Given the description of an element on the screen output the (x, y) to click on. 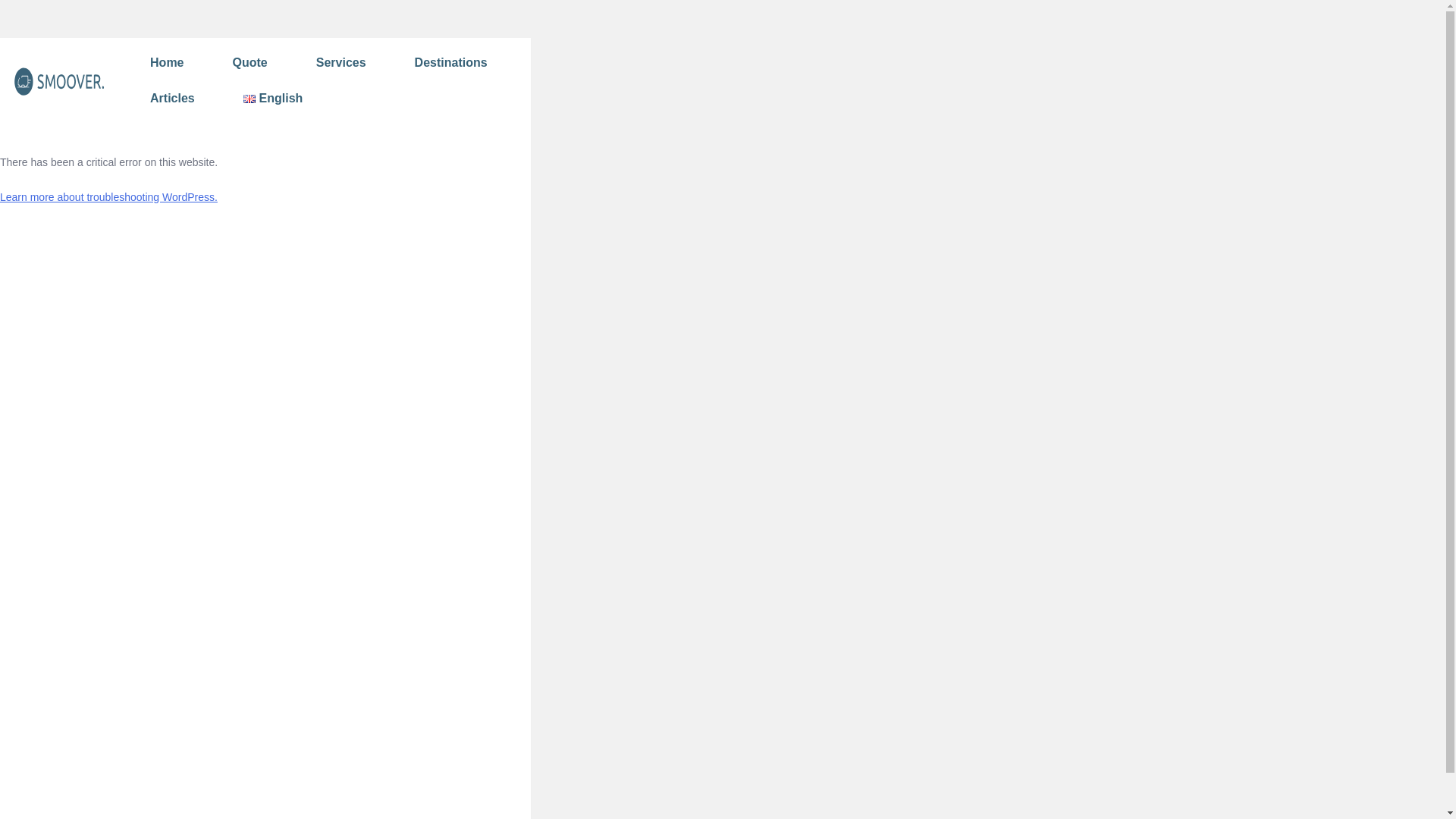
English (273, 99)
Quote (250, 63)
Home (166, 63)
Articles (172, 99)
Smoover Services (58, 81)
Destinations (451, 63)
Services (341, 63)
